Given the description of an element on the screen output the (x, y) to click on. 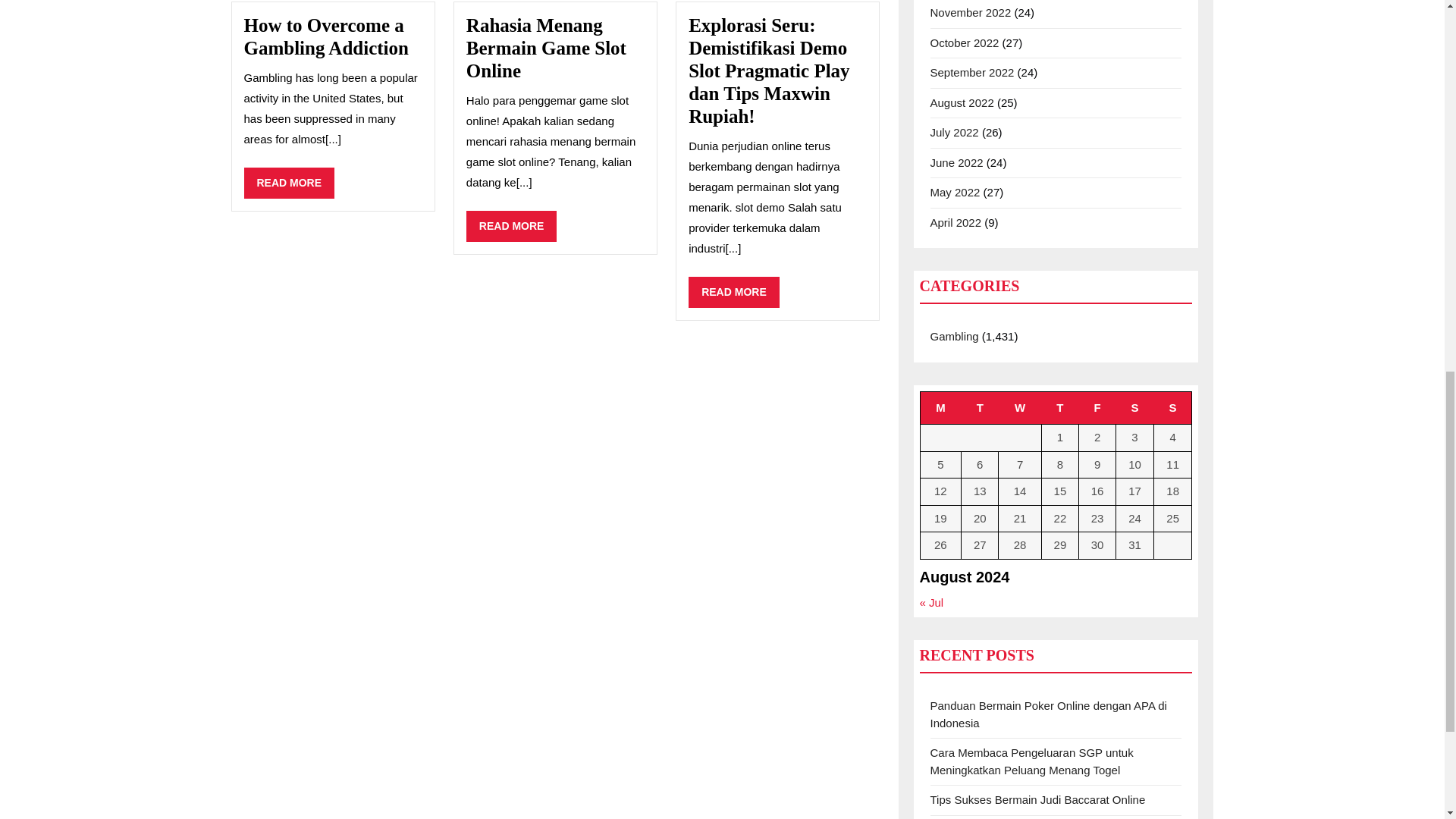
Thursday (1059, 408)
How to Overcome a Gambling Addiction (326, 36)
Sunday (289, 183)
Friday (1172, 408)
Rahasia Menang Bermain Game Slot Online (733, 291)
Saturday (1097, 408)
Tuesday (545, 48)
Wednesday (1135, 408)
Monday (979, 408)
